Given the description of an element on the screen output the (x, y) to click on. 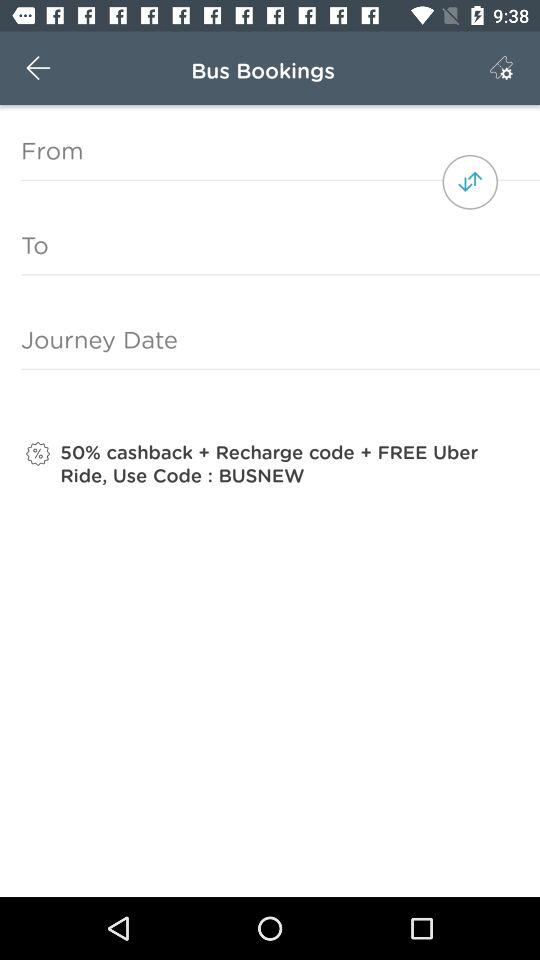
open the icon to the right of bus bookings item (501, 68)
